Given the description of an element on the screen output the (x, y) to click on. 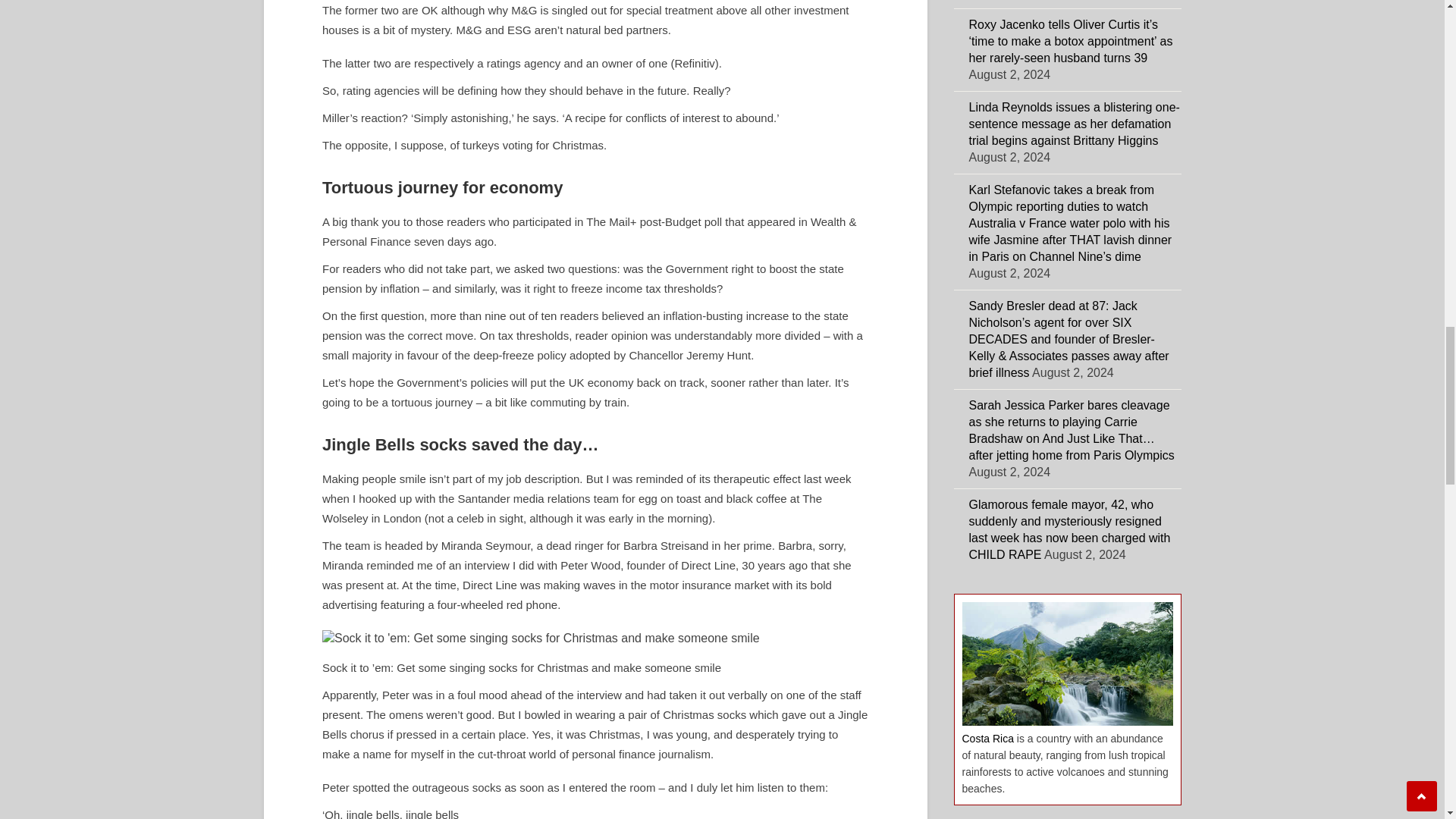
Costa Rica (986, 738)
